Given the description of an element on the screen output the (x, y) to click on. 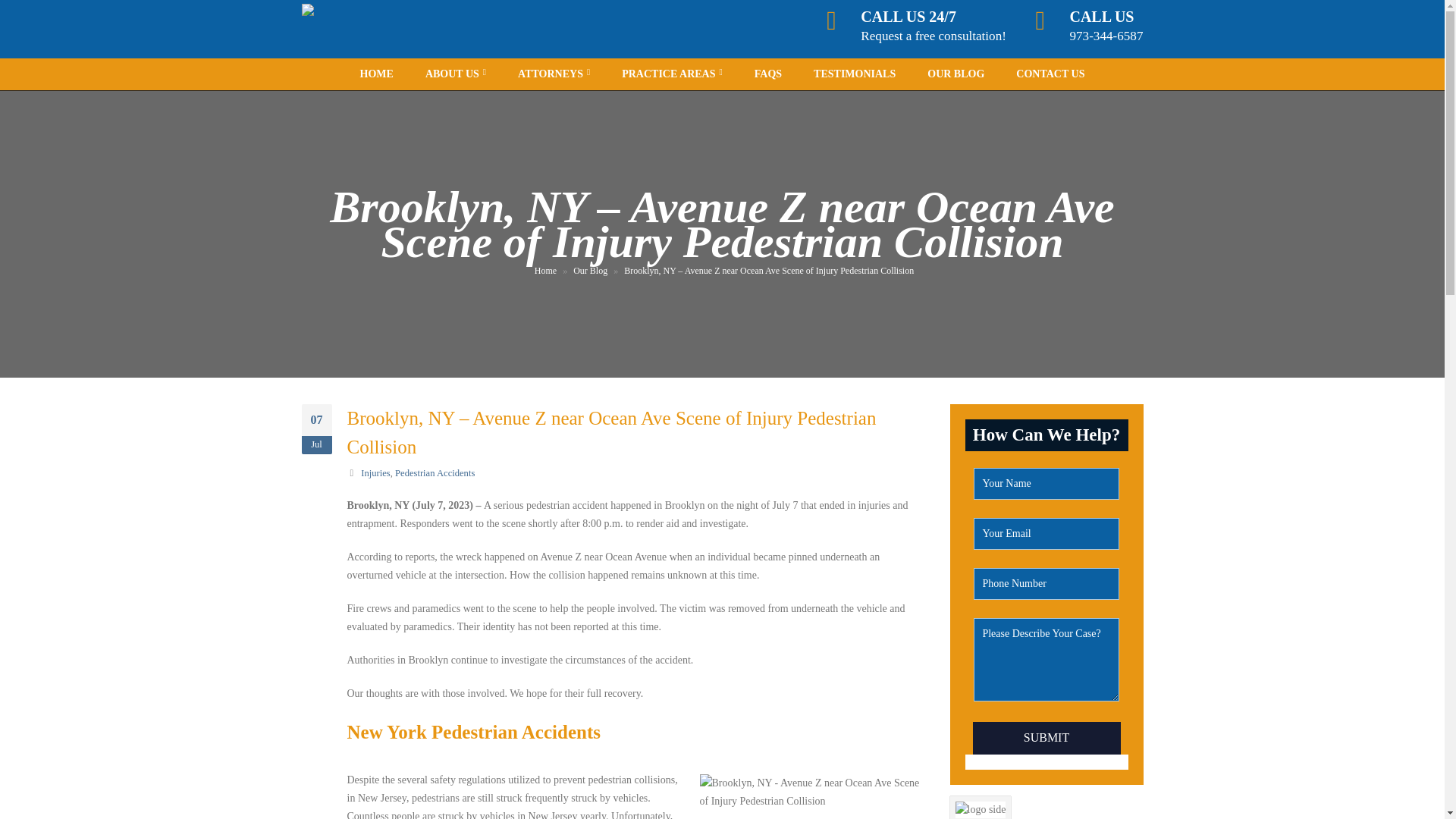
HOME (377, 74)
SUBMIT (1045, 737)
ABOUT US (1105, 25)
ATTORNEYS (455, 74)
PRACTICE AREAS (553, 74)
